Given the description of an element on the screen output the (x, y) to click on. 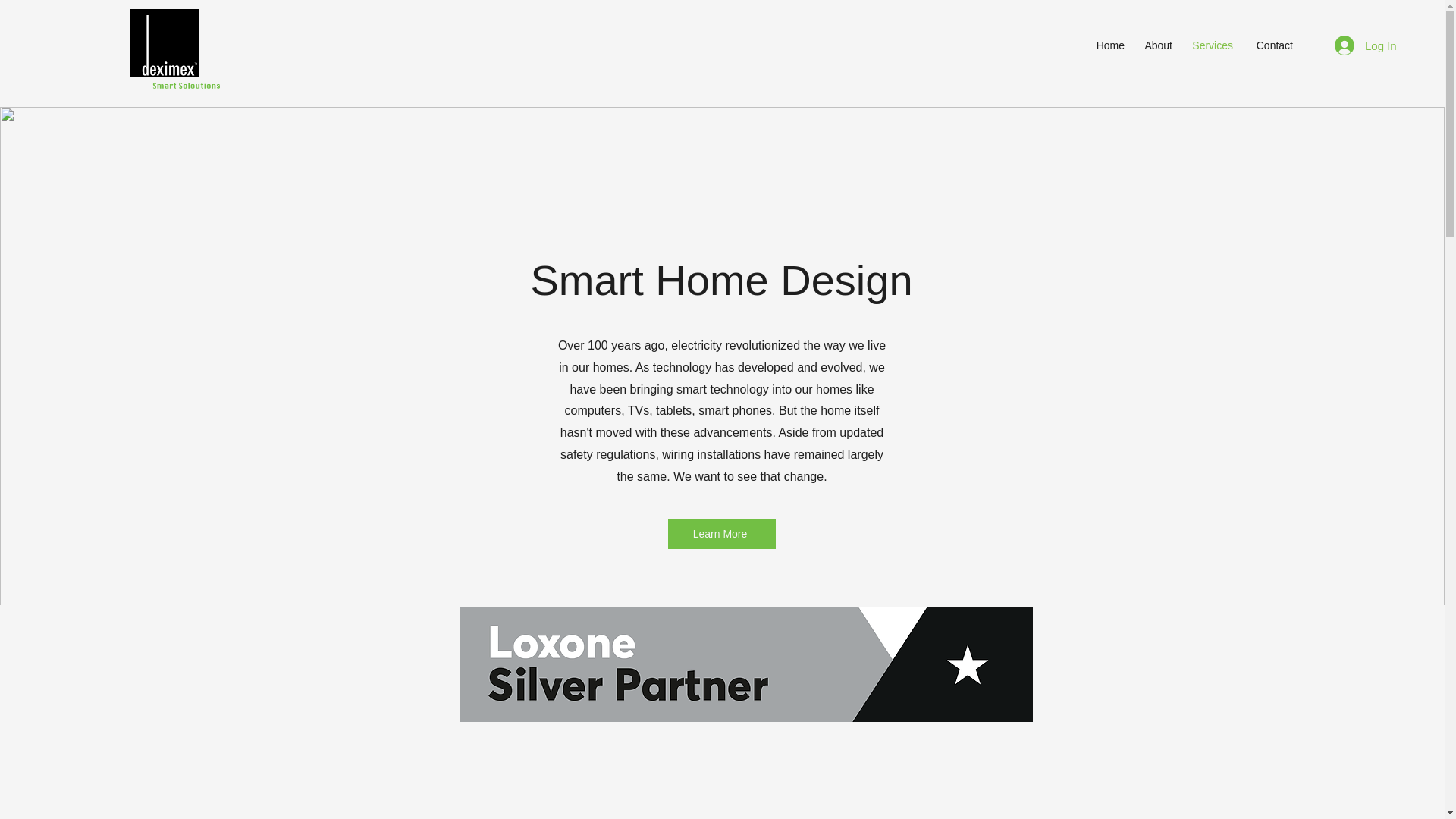
Services (1209, 45)
Contact (1270, 45)
About (1155, 45)
Home (1107, 45)
Learn More (720, 533)
Log In (1353, 45)
